Given the description of an element on the screen output the (x, y) to click on. 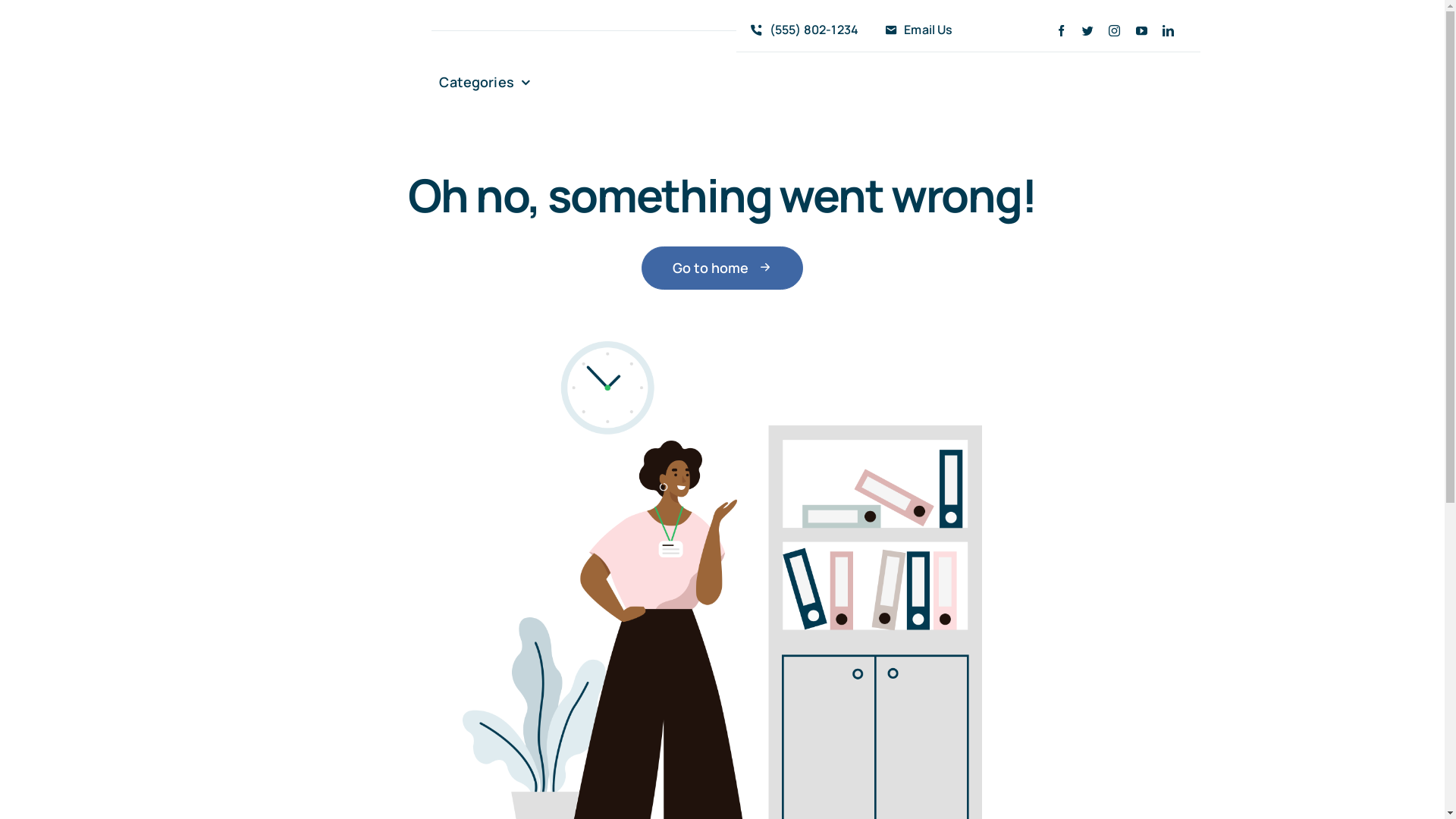
Email Us Element type: text (915, 30)
(555) 802-1234 Element type: text (801, 30)
Go to home Element type: text (722, 267)
Categories Element type: text (484, 82)
